Given the description of an element on the screen output the (x, y) to click on. 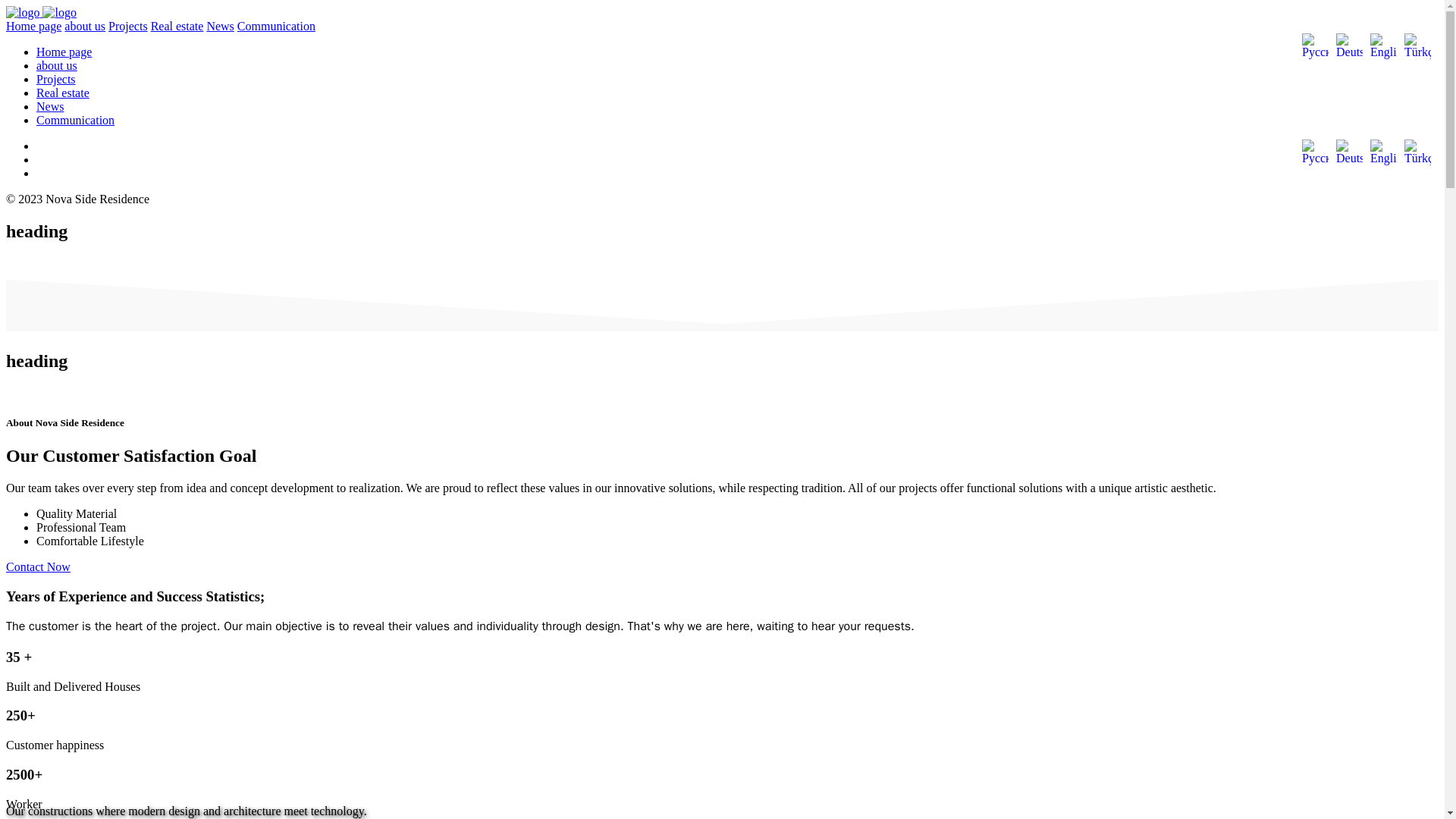
News (50, 106)
Logo (41, 11)
Projects (127, 25)
Home page (33, 25)
about us (56, 65)
Communication (75, 119)
Home page (63, 51)
2500 (19, 774)
Contact Now (37, 566)
35 (14, 657)
